Given the description of an element on the screen output the (x, y) to click on. 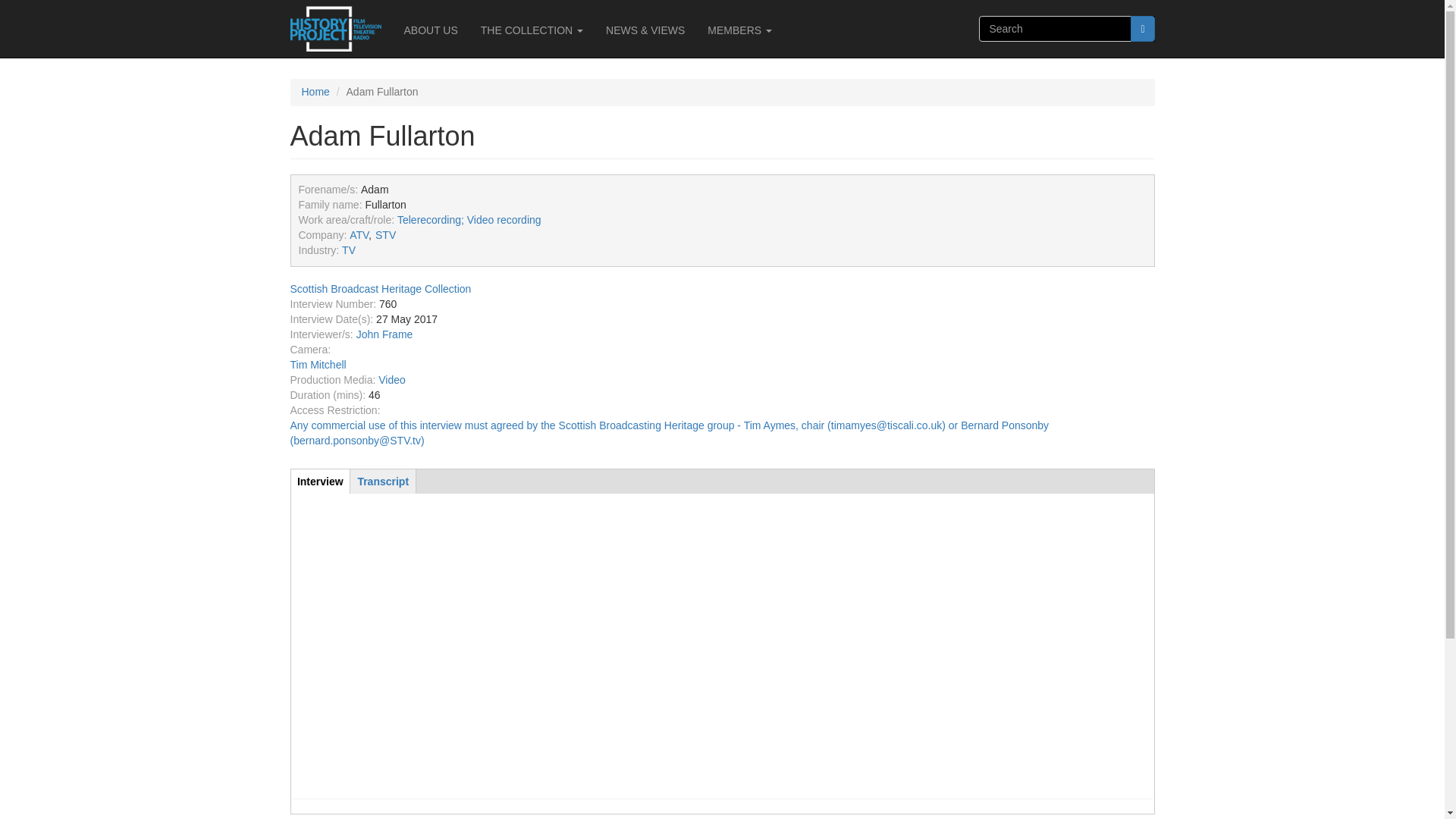
ATV (358, 234)
THE COLLECTION (531, 30)
Transcript (382, 481)
MEMBERS (739, 30)
About Us (430, 30)
Video (392, 379)
Home (315, 91)
John Frame (384, 334)
Telerecording; Video recording (469, 219)
